Given the description of an element on the screen output the (x, y) to click on. 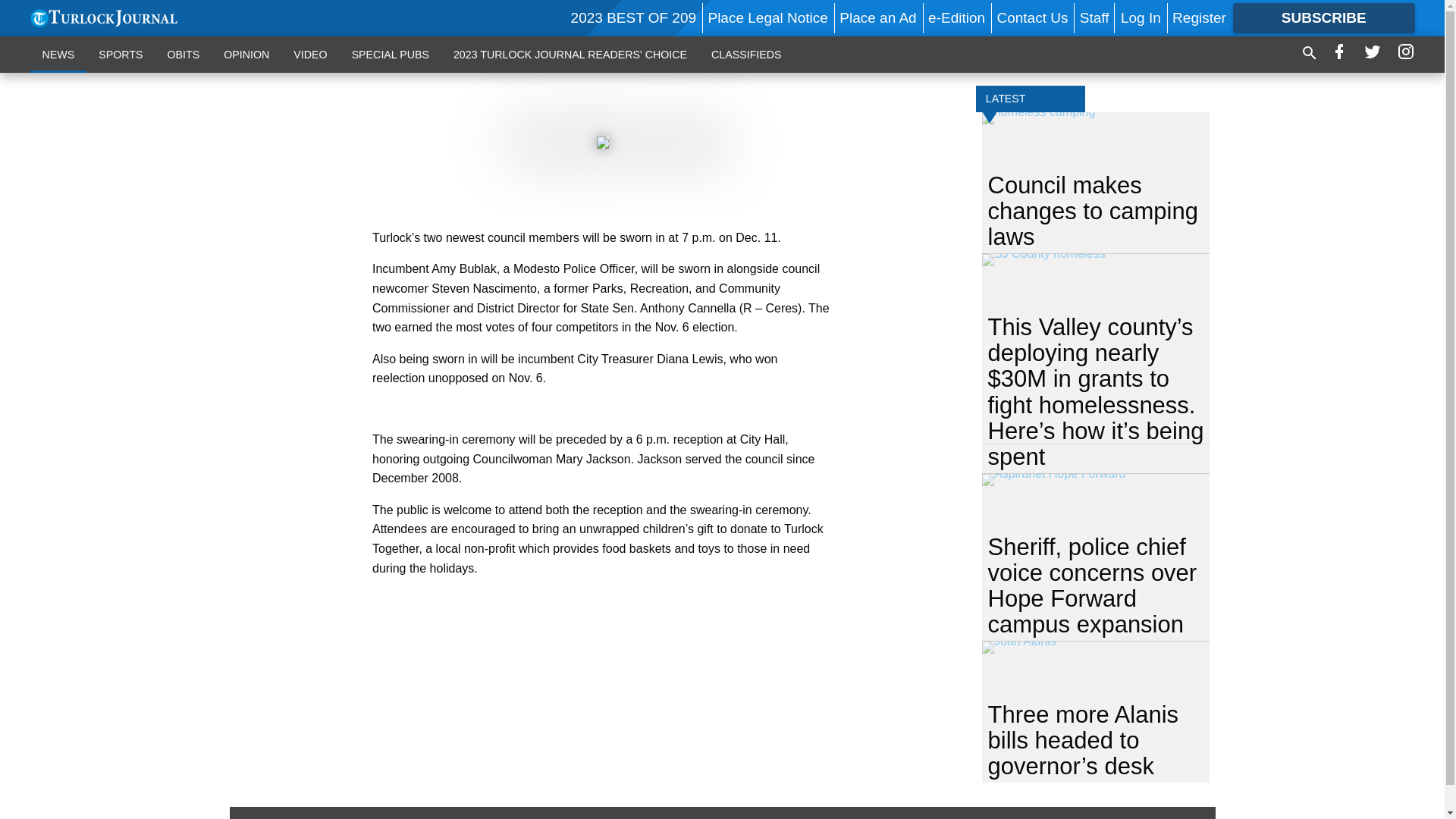
Register (1198, 17)
2023 BEST OF 209 (632, 17)
Place Legal Notice (767, 17)
Staff (1094, 17)
Place an Ad (877, 17)
SUBSCRIBE (1324, 18)
e-Edition (956, 17)
Contact Us (1031, 17)
Log In (1140, 17)
